Given the description of an element on the screen output the (x, y) to click on. 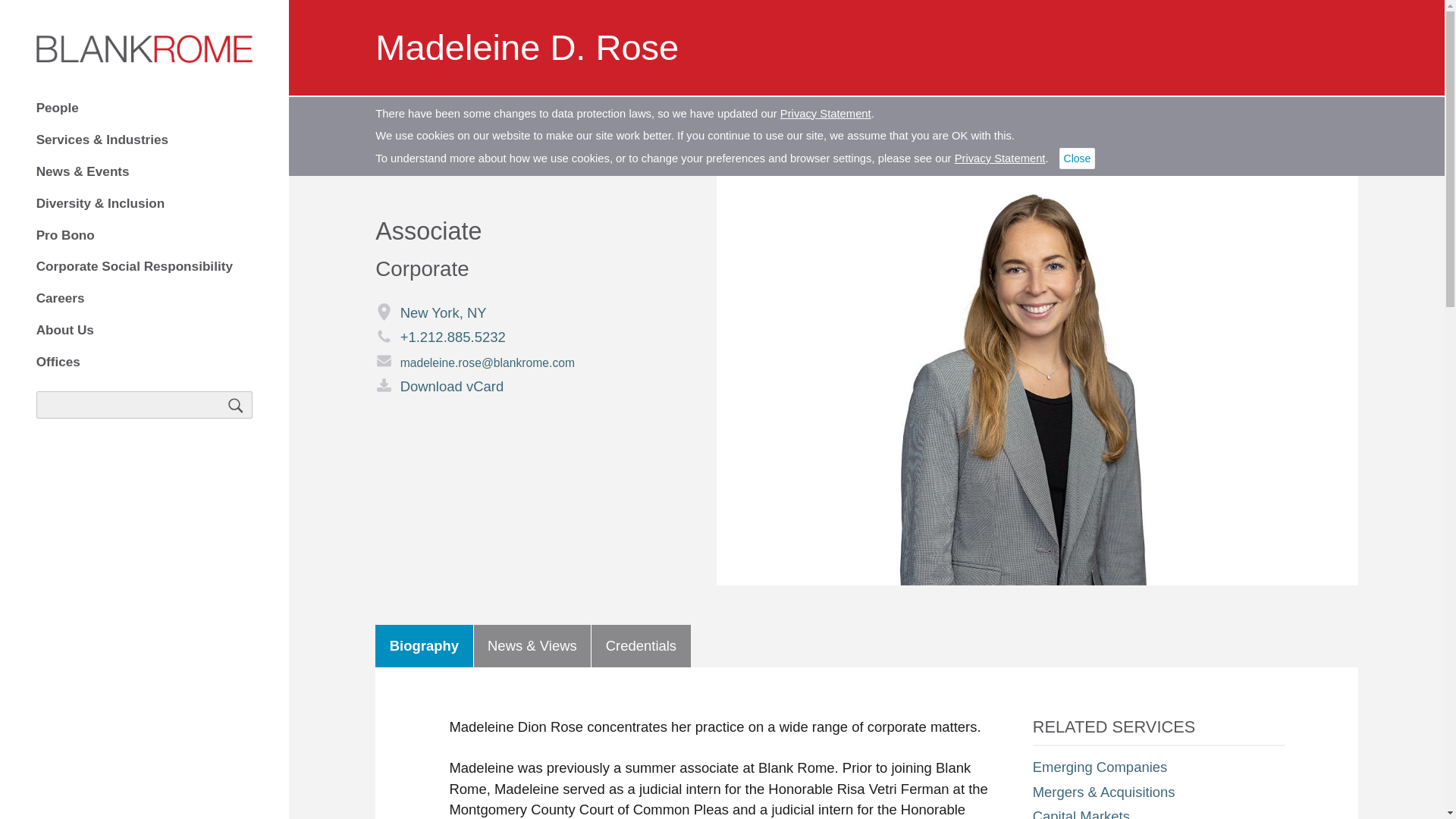
Emerging Companies (1099, 766)
Capital Markets (1080, 813)
Search (236, 405)
Close (1077, 158)
Careers (144, 298)
Corporate Social Responsibility (144, 266)
Search (236, 405)
Biography (423, 645)
Download vCard (526, 386)
